Given the description of an element on the screen output the (x, y) to click on. 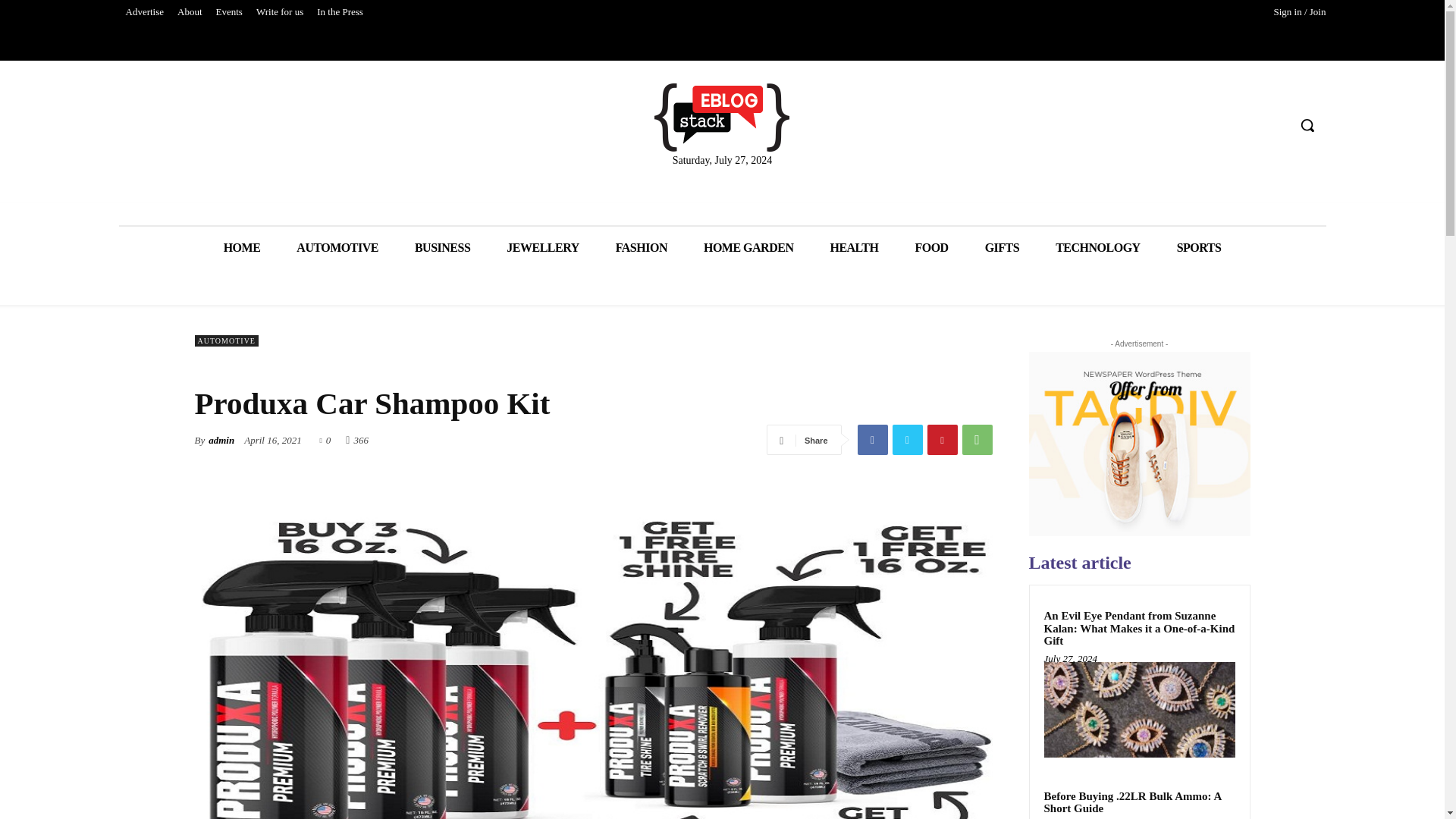
Twitter (906, 440)
SPORTS (1199, 247)
Facebook (871, 440)
HOME GARDEN (748, 247)
HOME (242, 247)
Write for us (279, 12)
GIFTS (1002, 247)
FASHION (640, 247)
About (189, 12)
WhatsApp (975, 440)
HEALTH (853, 247)
TECHNOLOGY (1096, 247)
JEWELLERY (541, 247)
Advertise (143, 12)
Pinterest (941, 440)
